Given the description of an element on the screen output the (x, y) to click on. 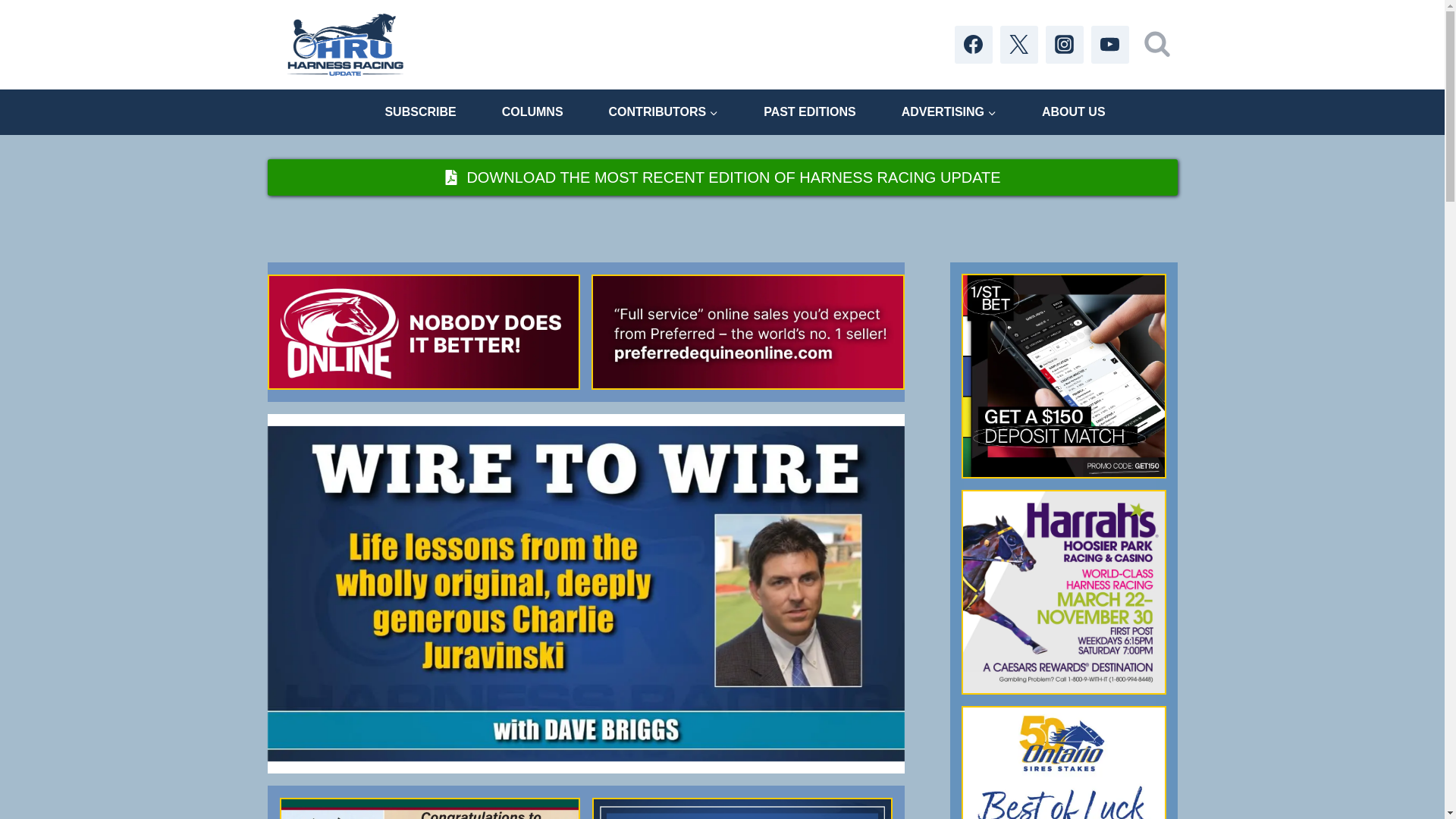
DOWNLOAD THE MOST RECENT EDITION OF HARNESS RACING UPDATE (721, 176)
ADVERTISING (949, 111)
CONTRIBUTORS (663, 111)
ABOUT US (1073, 111)
PAST EDITIONS (810, 111)
SUBSCRIBE (420, 111)
COLUMNS (532, 111)
